Given the description of an element on the screen output the (x, y) to click on. 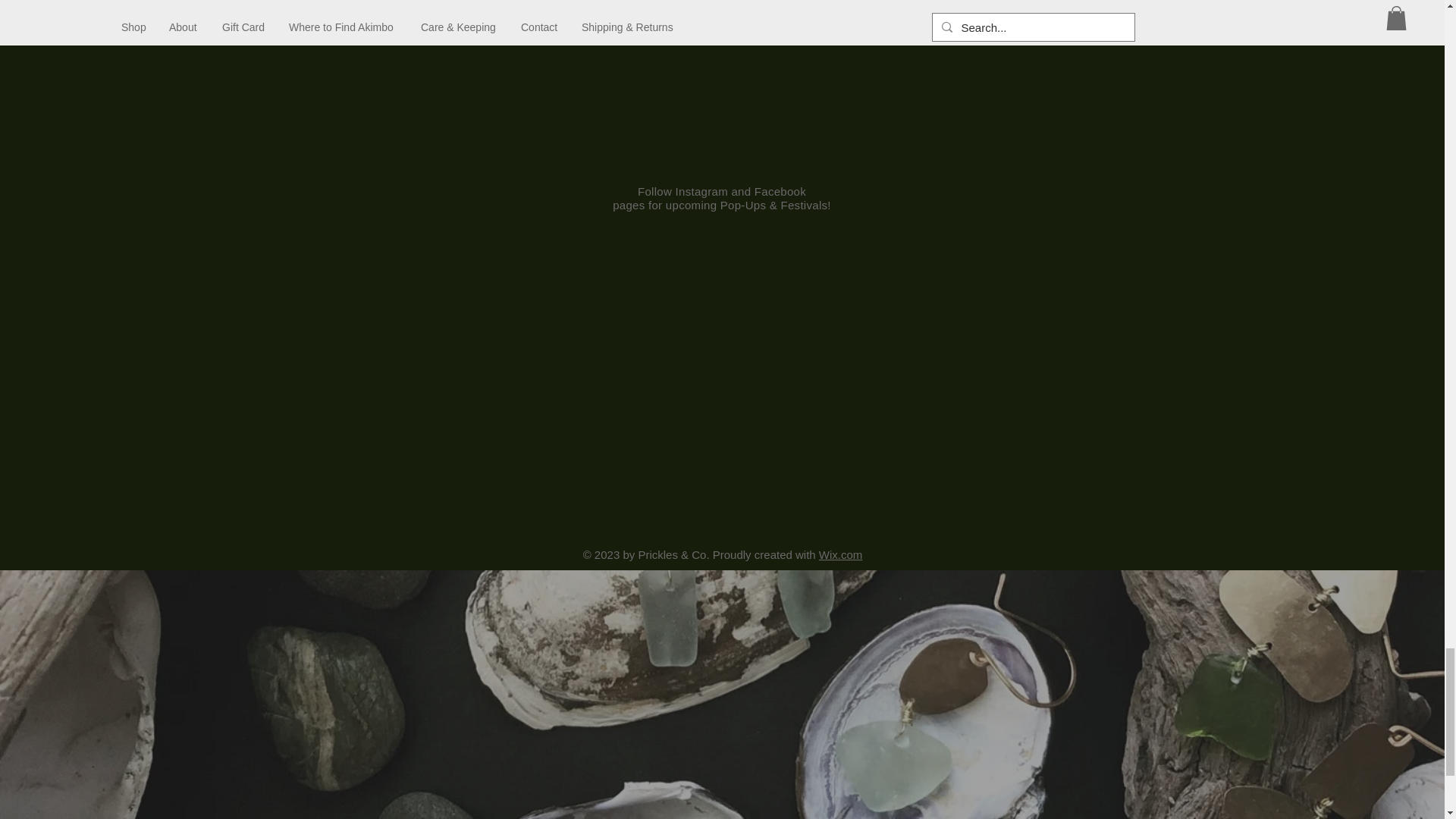
Wix.com (840, 554)
